Given the description of an element on the screen output the (x, y) to click on. 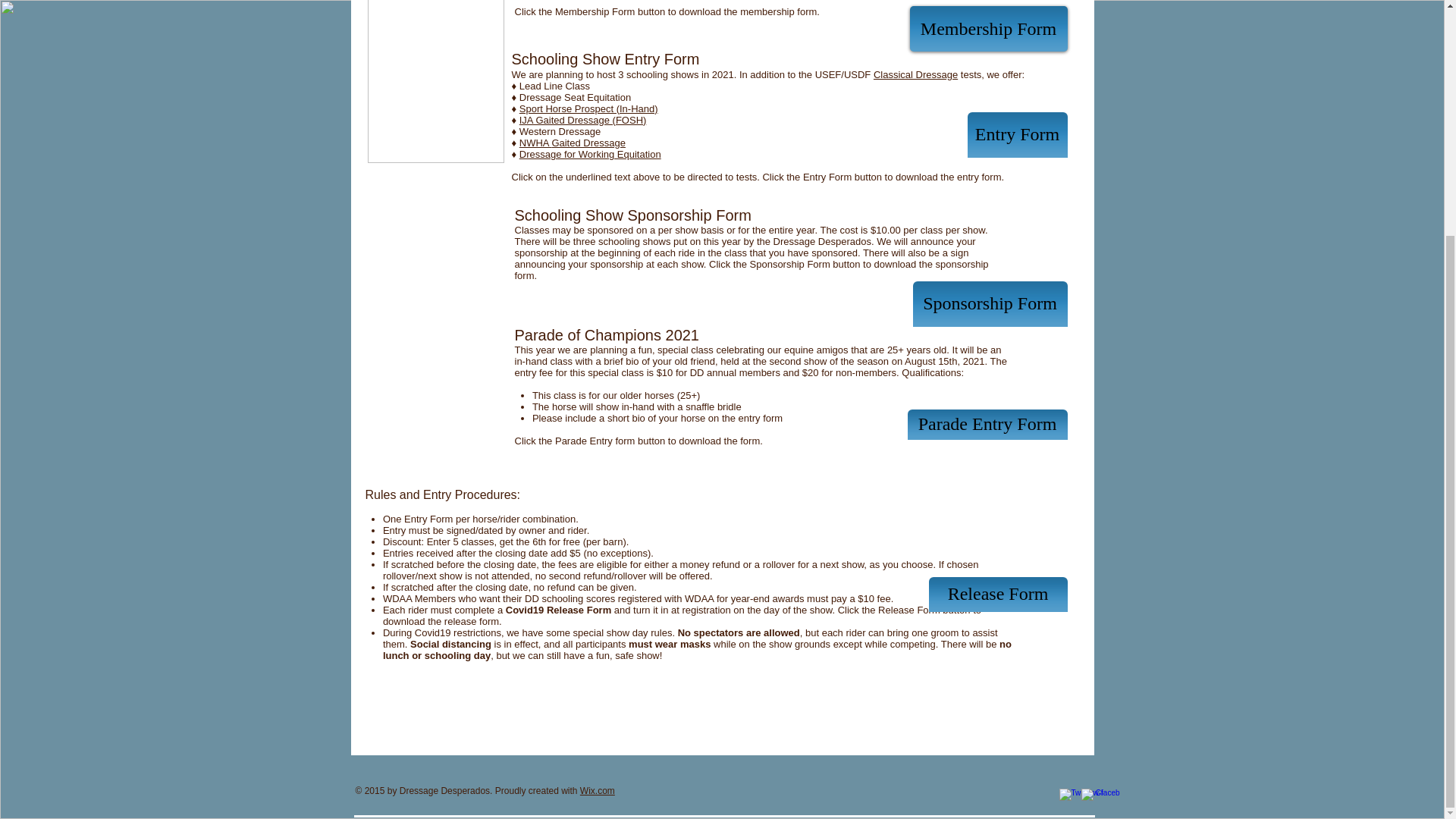
Entry Form (1017, 135)
Sponsorship Form (989, 303)
Wix.com (596, 790)
Gaited Dressage (588, 142)
Parade Entry Form (987, 424)
Classical Dressage (915, 74)
Membership Form (988, 28)
Dressage for Working Equitation (590, 153)
Release Form (997, 594)
